Given the description of an element on the screen output the (x, y) to click on. 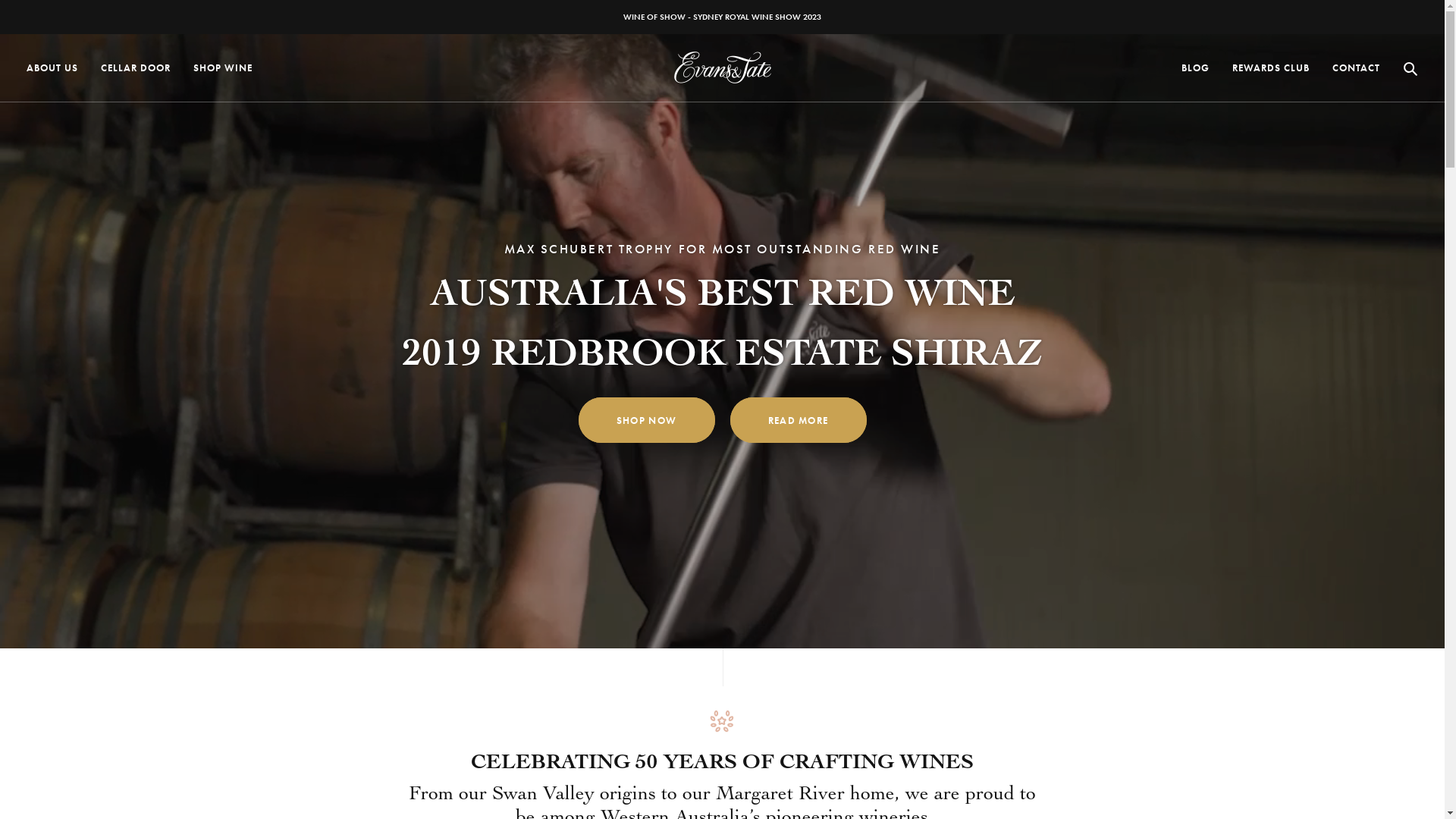
SHOP NOW Element type: text (645, 419)
WINE OF SHOW - SYDNEY ROYAL WINE SHOW 2023 Element type: text (722, 16)
CONTACT Element type: text (1356, 68)
READ MORE Element type: text (797, 419)
CELLAR DOOR Element type: text (135, 68)
SHOP WINE Element type: text (222, 68)
BLOG Element type: text (1195, 68)
ABOUT US Element type: text (52, 68)
REWARDS CLUB Element type: text (1270, 68)
